Given the description of an element on the screen output the (x, y) to click on. 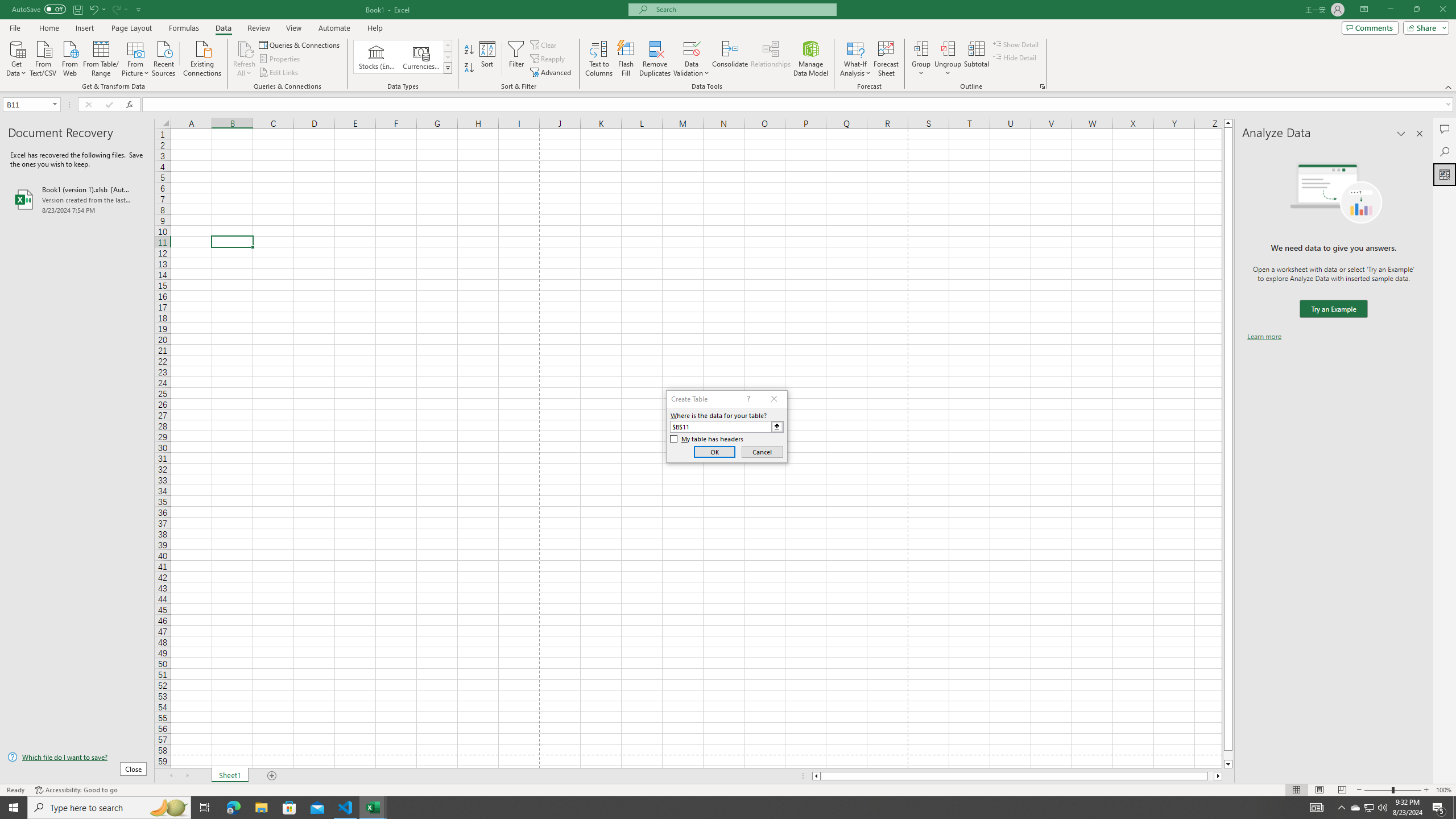
From Picture (135, 57)
Formula Bar (799, 104)
Automate (334, 28)
From Web (69, 57)
Microsoft search (742, 9)
Clear (544, 44)
Data Types (448, 67)
Currencies (English) (420, 56)
From Text/CSV (43, 57)
Sort A to Z (469, 49)
AutomationID: ConvertToLinkedEntity (403, 56)
Edit Links (279, 72)
AutoSave (38, 9)
